Given the description of an element on the screen output the (x, y) to click on. 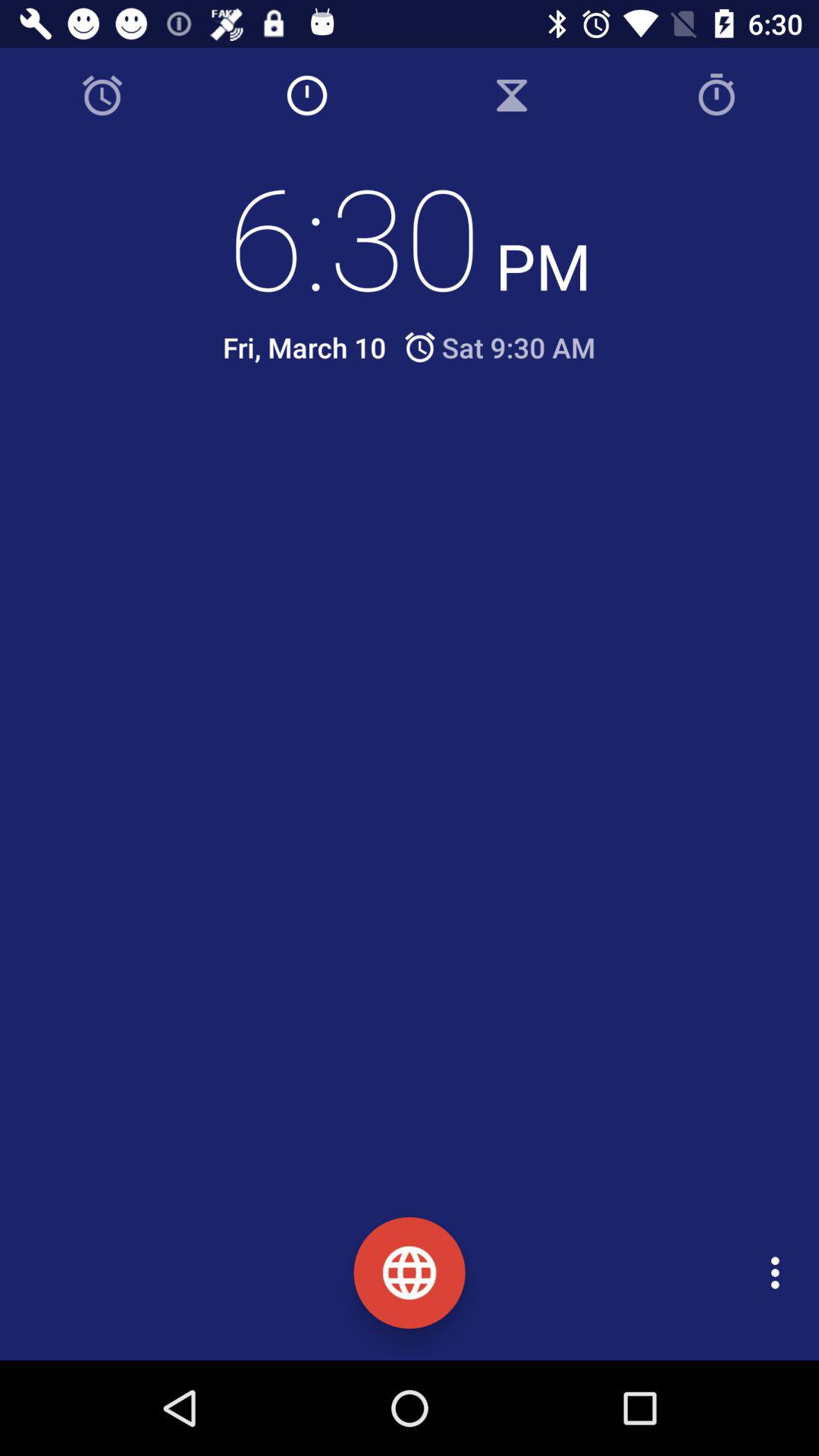
select the icon next to the sat 9 30 icon (304, 347)
